Given the description of an element on the screen output the (x, y) to click on. 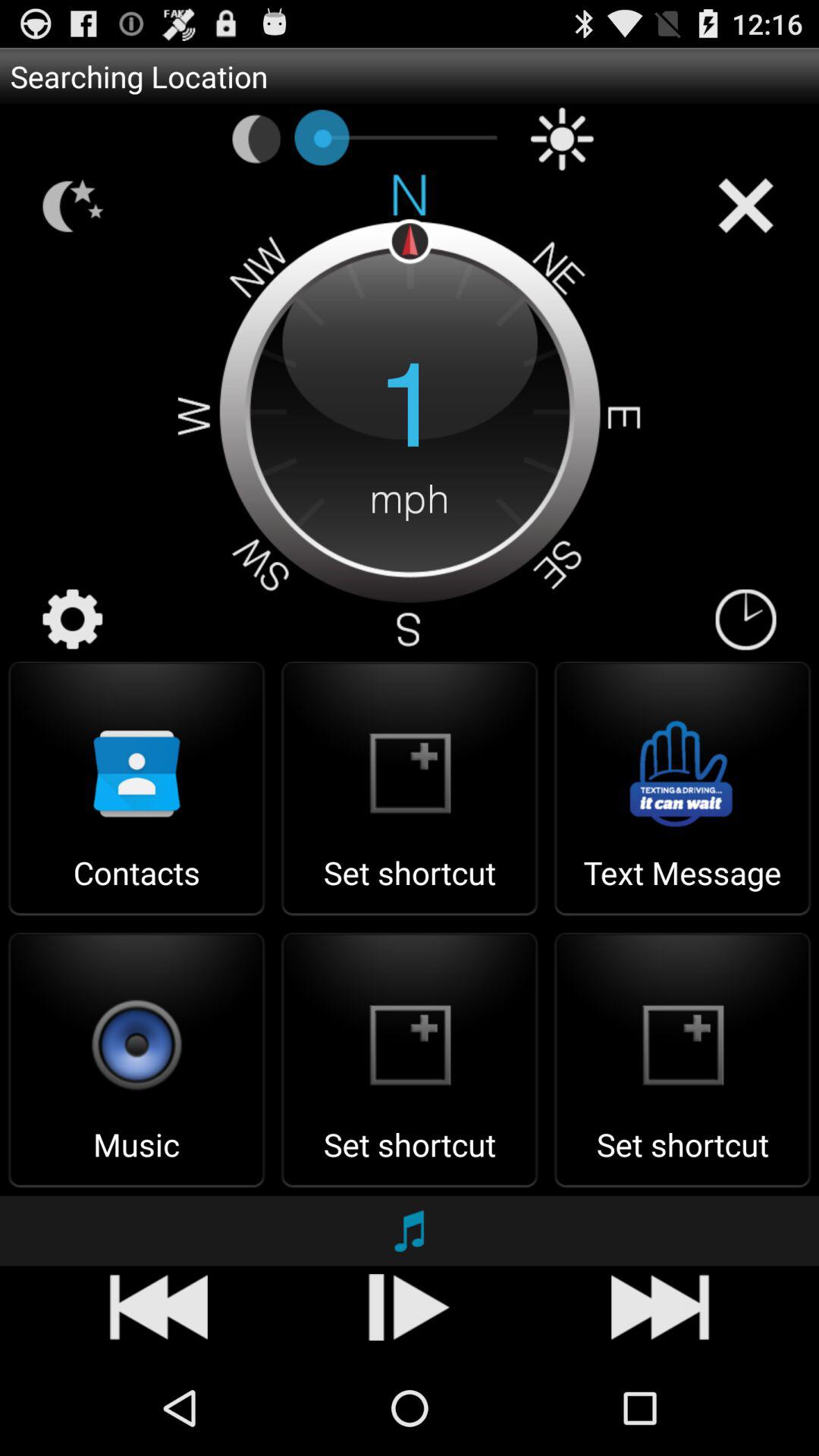
turn on the app next to 1 item (72, 619)
